Given the description of an element on the screen output the (x, y) to click on. 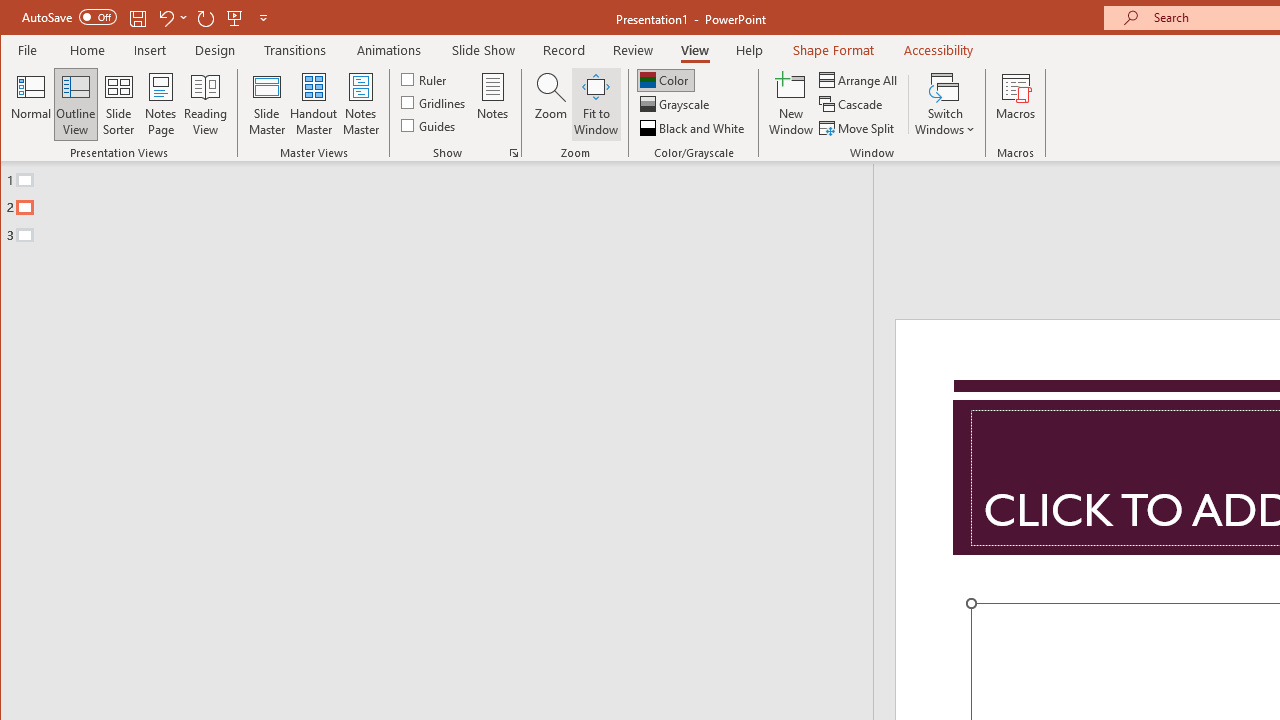
Move Split (858, 127)
